Given the description of an element on the screen output the (x, y) to click on. 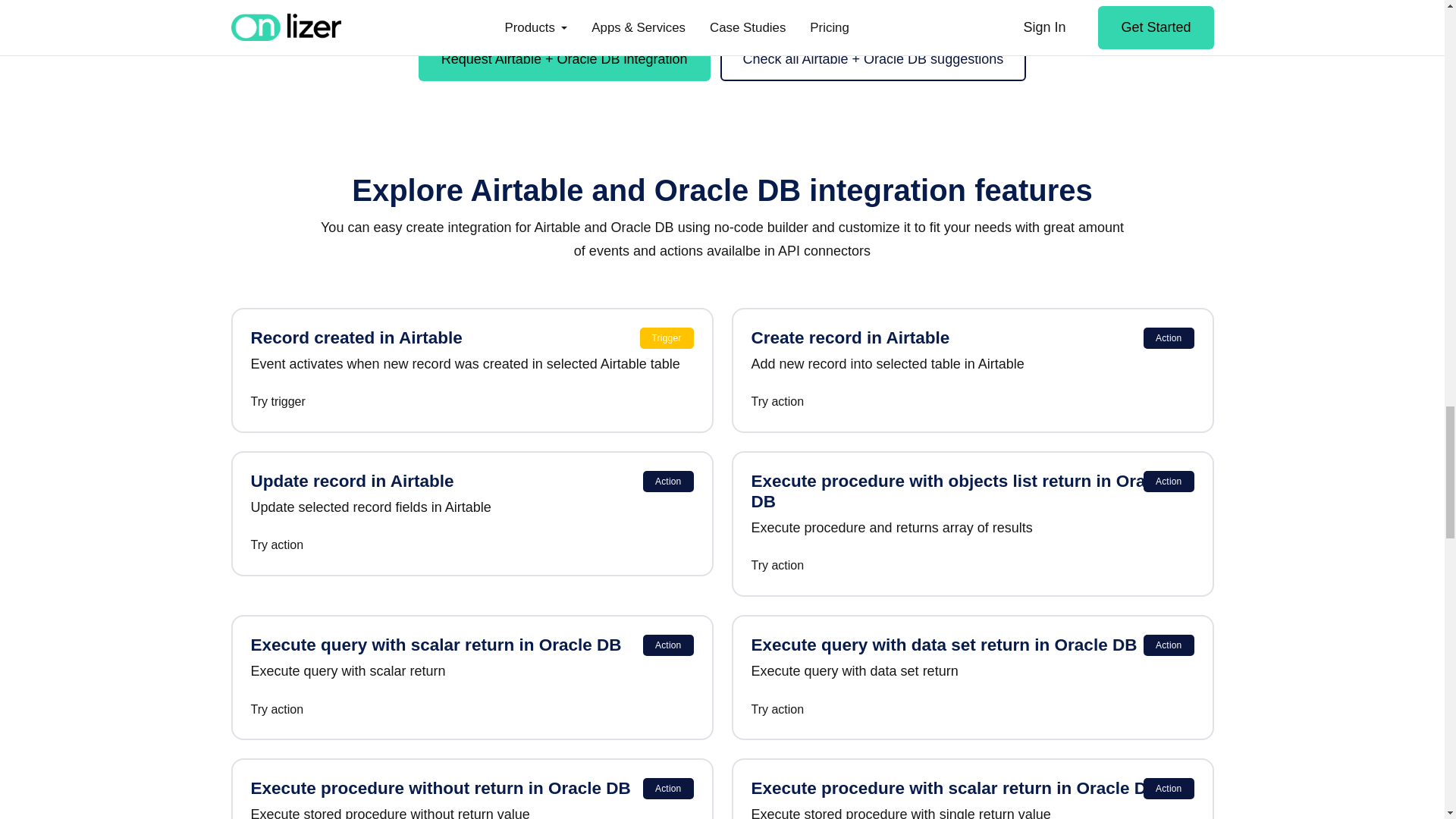
Try action (471, 710)
Try trigger (471, 402)
Try action (972, 402)
Try action (972, 710)
Try action (471, 545)
Try action (972, 566)
